Given the description of an element on the screen output the (x, y) to click on. 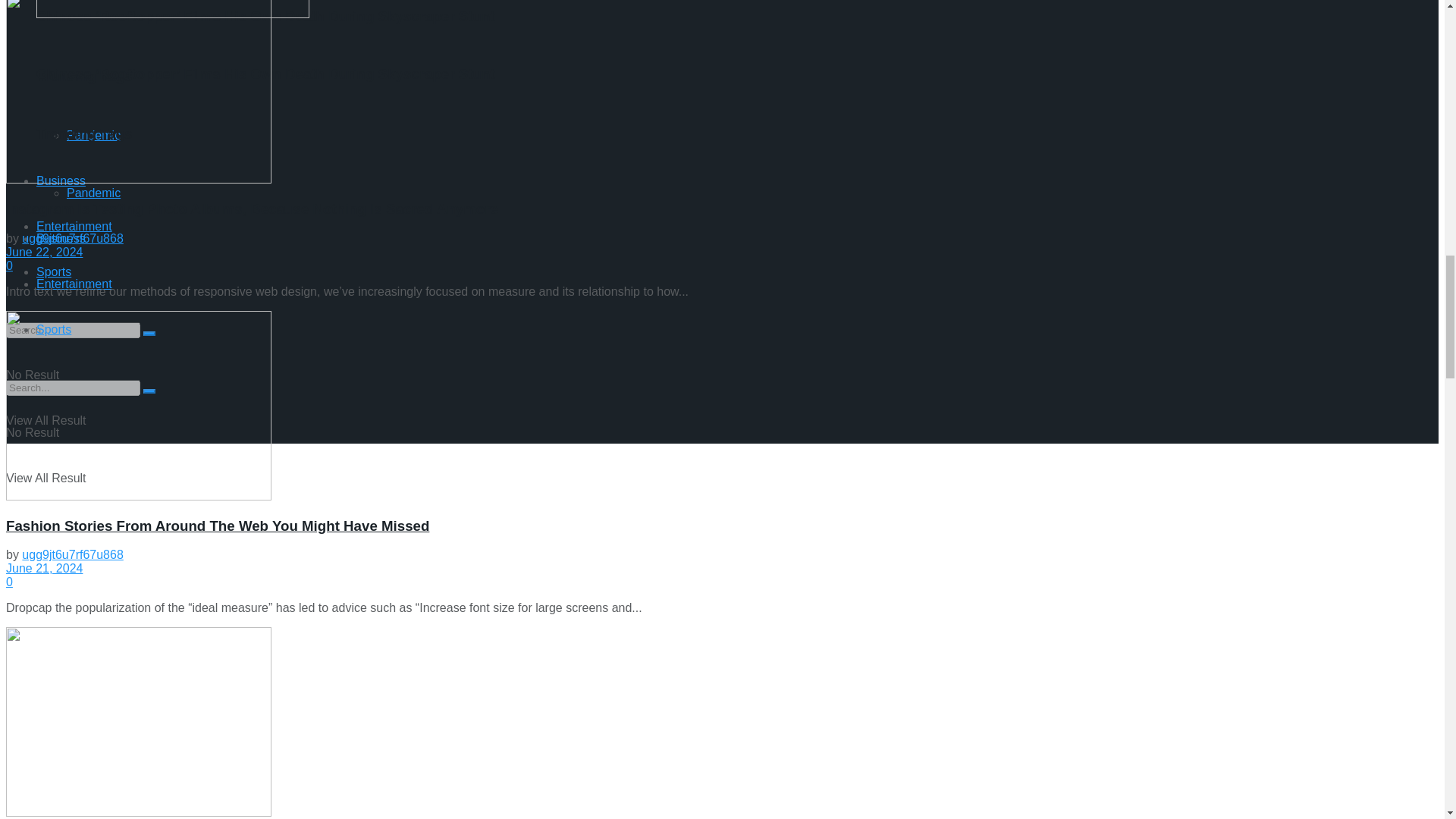
Entertainment (74, 226)
Pandemic (93, 134)
Business (60, 180)
Sports (53, 271)
